Given the description of an element on the screen output the (x, y) to click on. 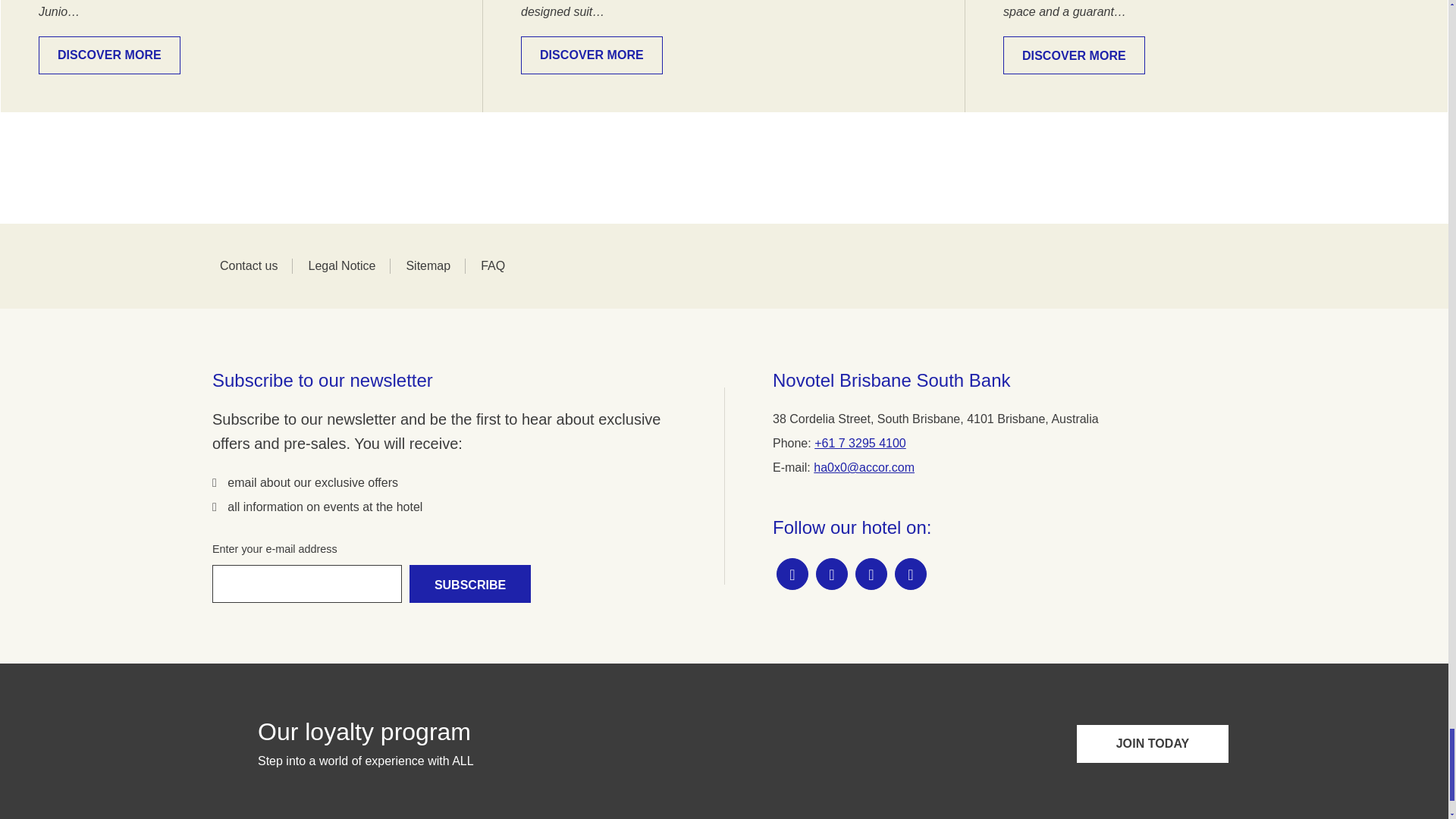
Subscribe (470, 583)
Open the Facebook page for this hotel in a new window (792, 573)
Open the Youtube page for this hotel in a new window (871, 573)
Open the Instagram page for this hotel in a new window (831, 573)
Open the Linkedin page for this hotel in a new window (910, 573)
